Given the description of an element on the screen output the (x, y) to click on. 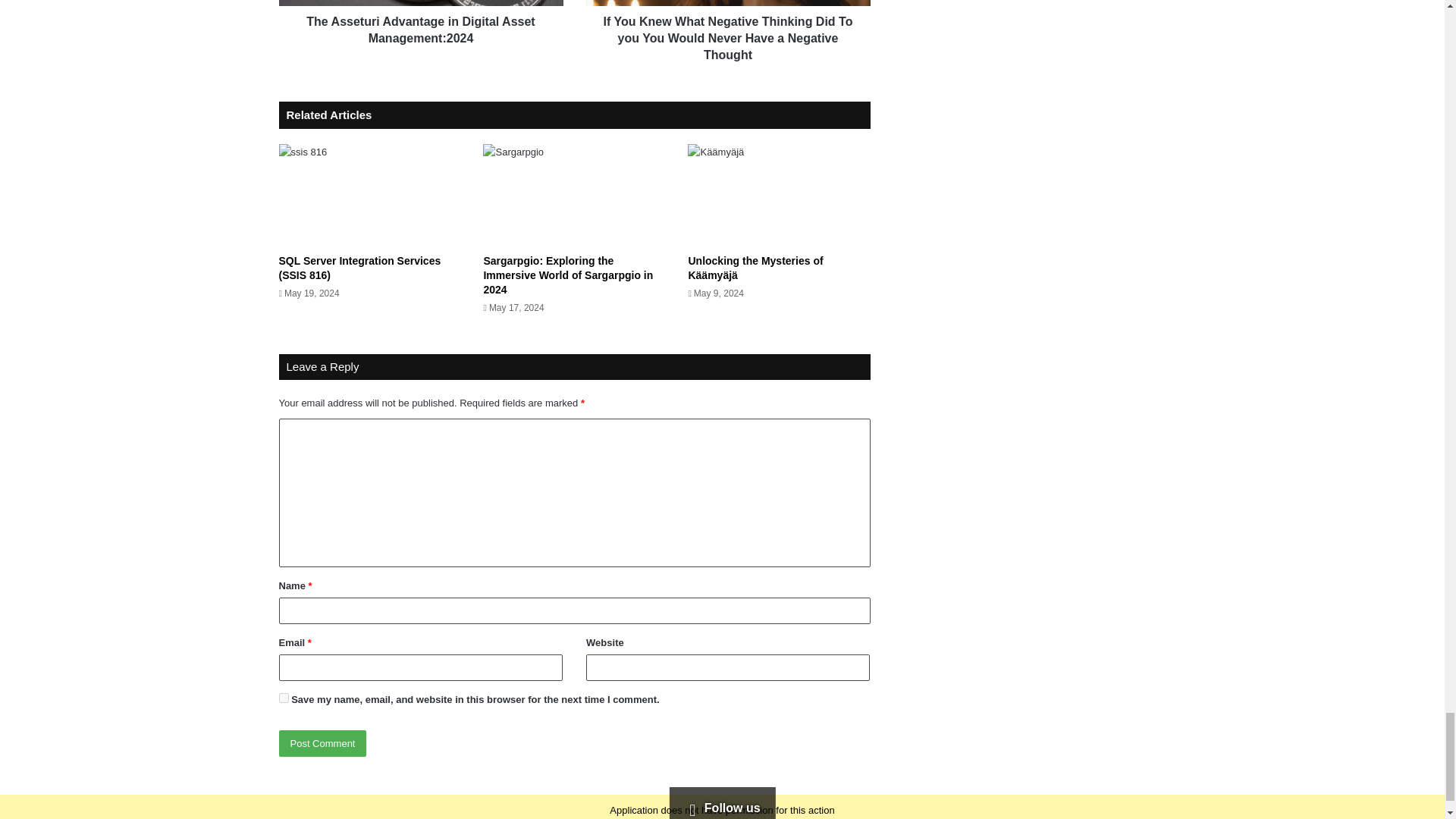
Post Comment (322, 743)
yes (283, 697)
